Given the description of an element on the screen output the (x, y) to click on. 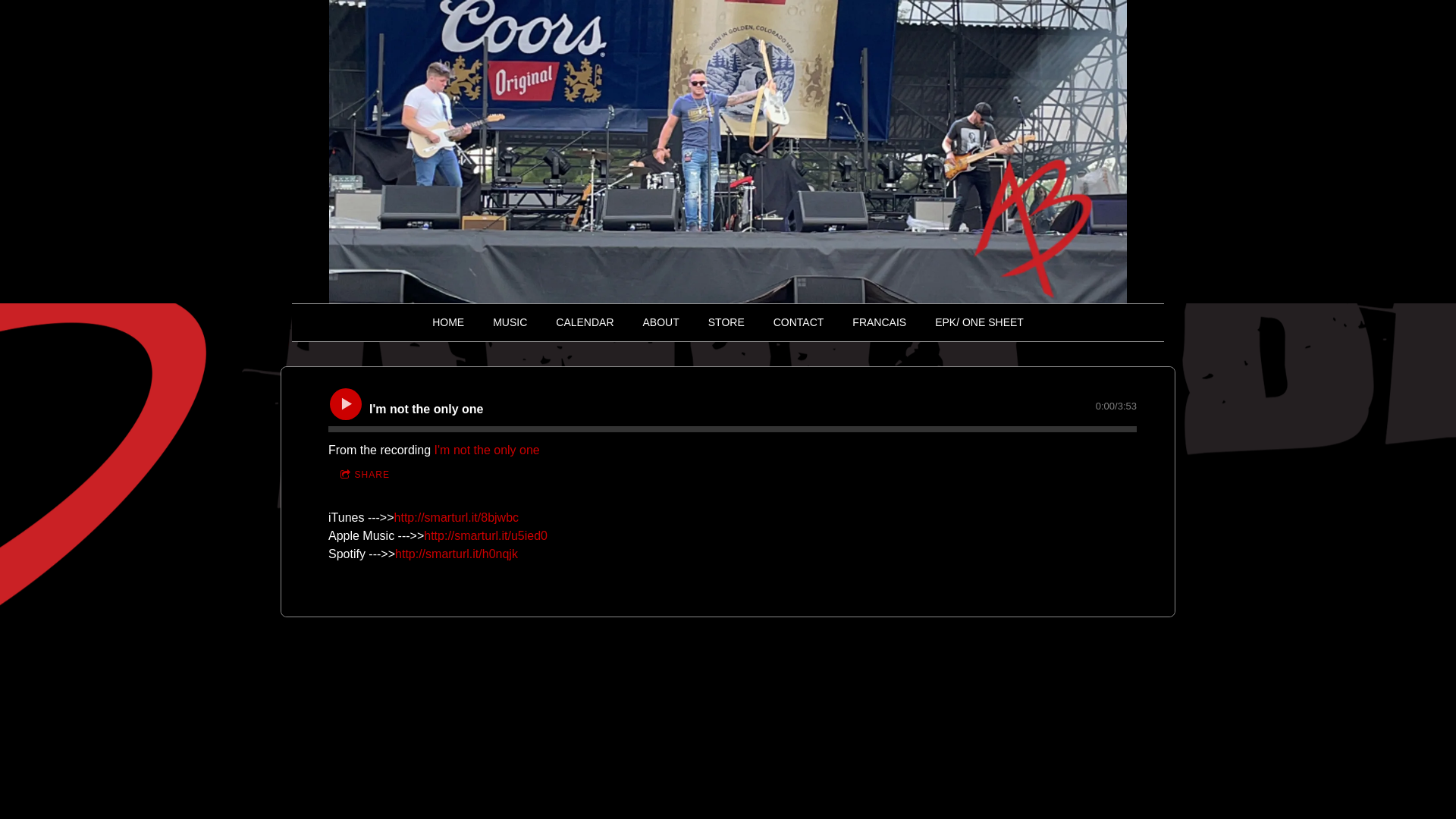
EPK/ ONE SHEET Element type: text (979, 322)
CONTACT Element type: text (798, 322)
SHARE Element type: text (364, 474)
http://smarturl.it/8bjwbc Element type: text (456, 517)
CALENDAR Element type: text (584, 322)
HOME Element type: text (447, 322)
MUSIC Element type: text (509, 322)
Play Element type: hover (345, 404)
STORE Element type: text (726, 322)
ABOUT Element type: text (661, 322)
http://smarturl.it/h0nqjk Element type: text (456, 553)
FRANCAIS Element type: text (878, 322)
http://smarturl.it/u5ied0 Element type: text (485, 535)
I'm not the only one Element type: text (486, 449)
